Given the description of an element on the screen output the (x, y) to click on. 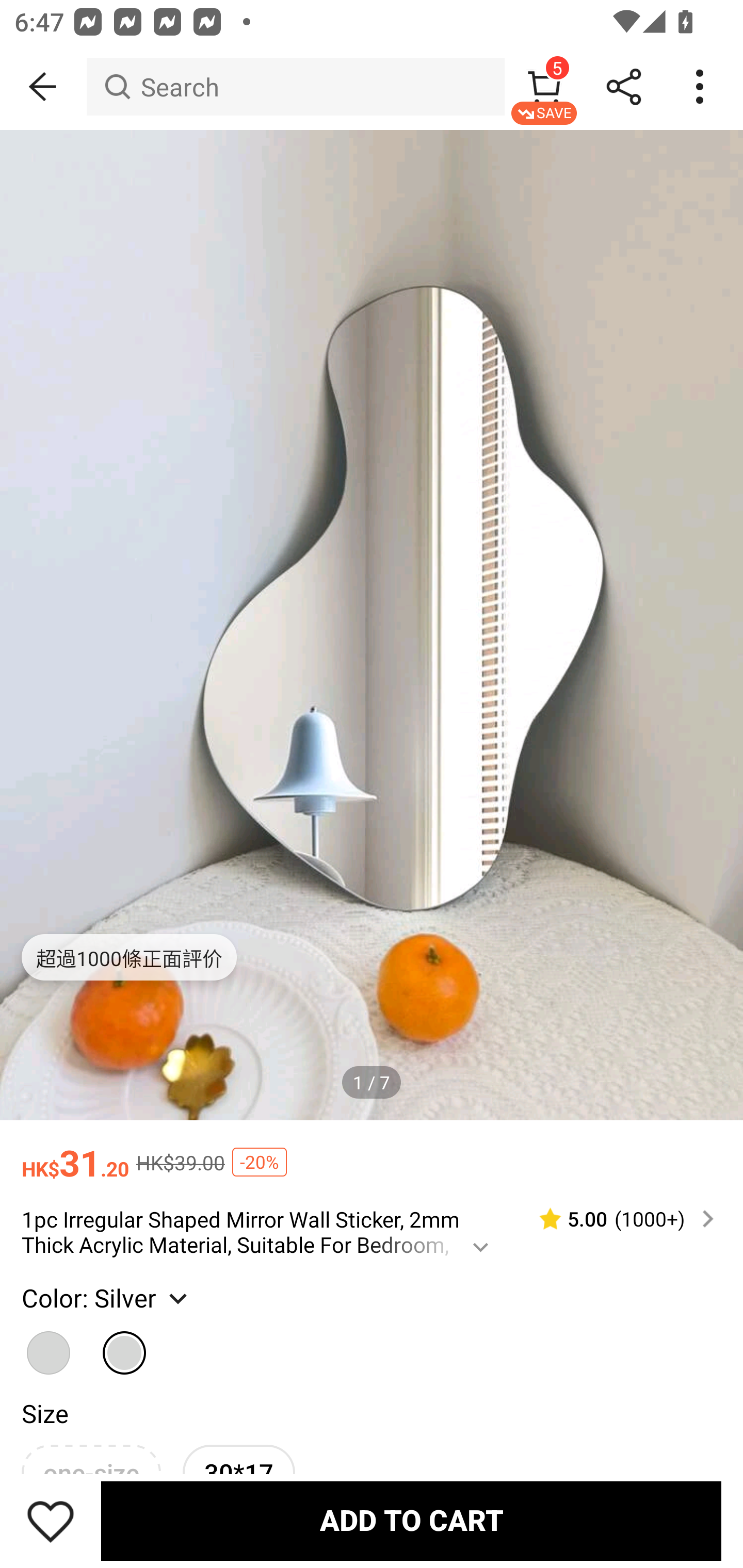
BACK (43, 86)
5 SAVE (543, 87)
Search (295, 87)
1 / 7 (371, 1082)
HK$31.20 HK$39.00 -20% (371, 1152)
5.00 (1000‎+) (617, 1219)
Color: Silver (106, 1297)
Silver (48, 1344)
Silver (124, 1344)
Size (44, 1412)
ADD TO CART (411, 1520)
Save (50, 1520)
